Given the description of an element on the screen output the (x, y) to click on. 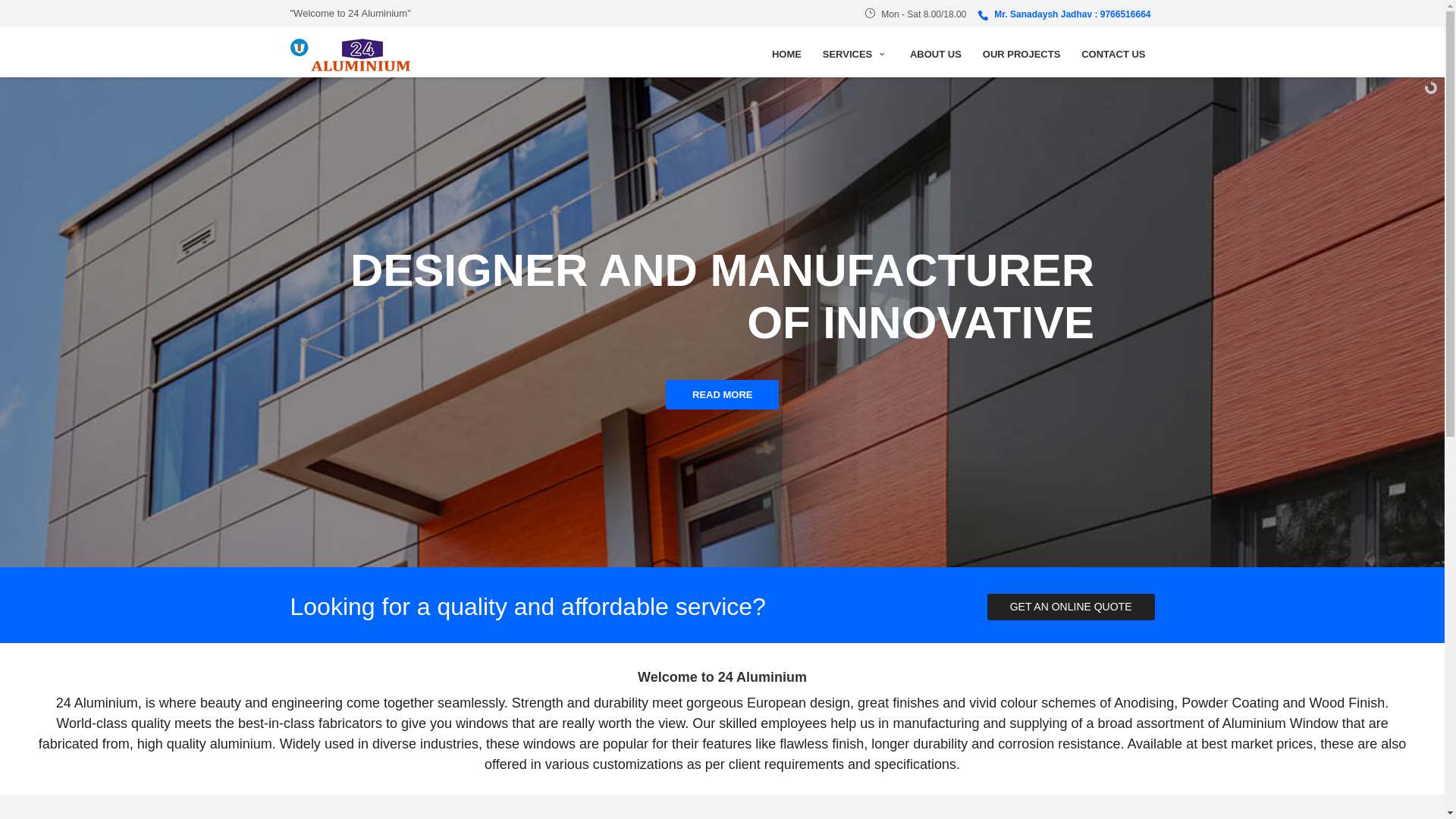
OUR PROJECTS Element type: text (1021, 62)
Mr. Sanadaysh Jadhav : 9766516664 Element type: text (1063, 14)
SERVICES Element type: text (855, 62)
+91 9766516664 Element type: text (943, 629)
GET AN ONLINE QUOTE Element type: text (1070, 606)
Curtain Wall Glazing Services Element type: text (729, 661)
HOME Element type: text (786, 62)
Sound Resisting Sliding Windows Element type: text (738, 582)
Bathroom Shower Area Glass Partition Element type: text (750, 646)
CONTACT US Element type: text (1113, 62)
ACP Wall Cladding Element type: text (704, 614)
24aluminiumpimpri@gmail.com Element type: text (977, 660)
Industrial Workstation Tables Element type: text (726, 677)
Aluminium Work Consultancy Element type: text (728, 693)
Apps Techno Pvt. Ltd. Element type: text (867, 804)
ABOUT US Element type: text (935, 62)
Aluminum Office Partition Element type: text (719, 630)
Aluminum Glass Railing Element type: text (715, 598)
